Given the description of an element on the screen output the (x, y) to click on. 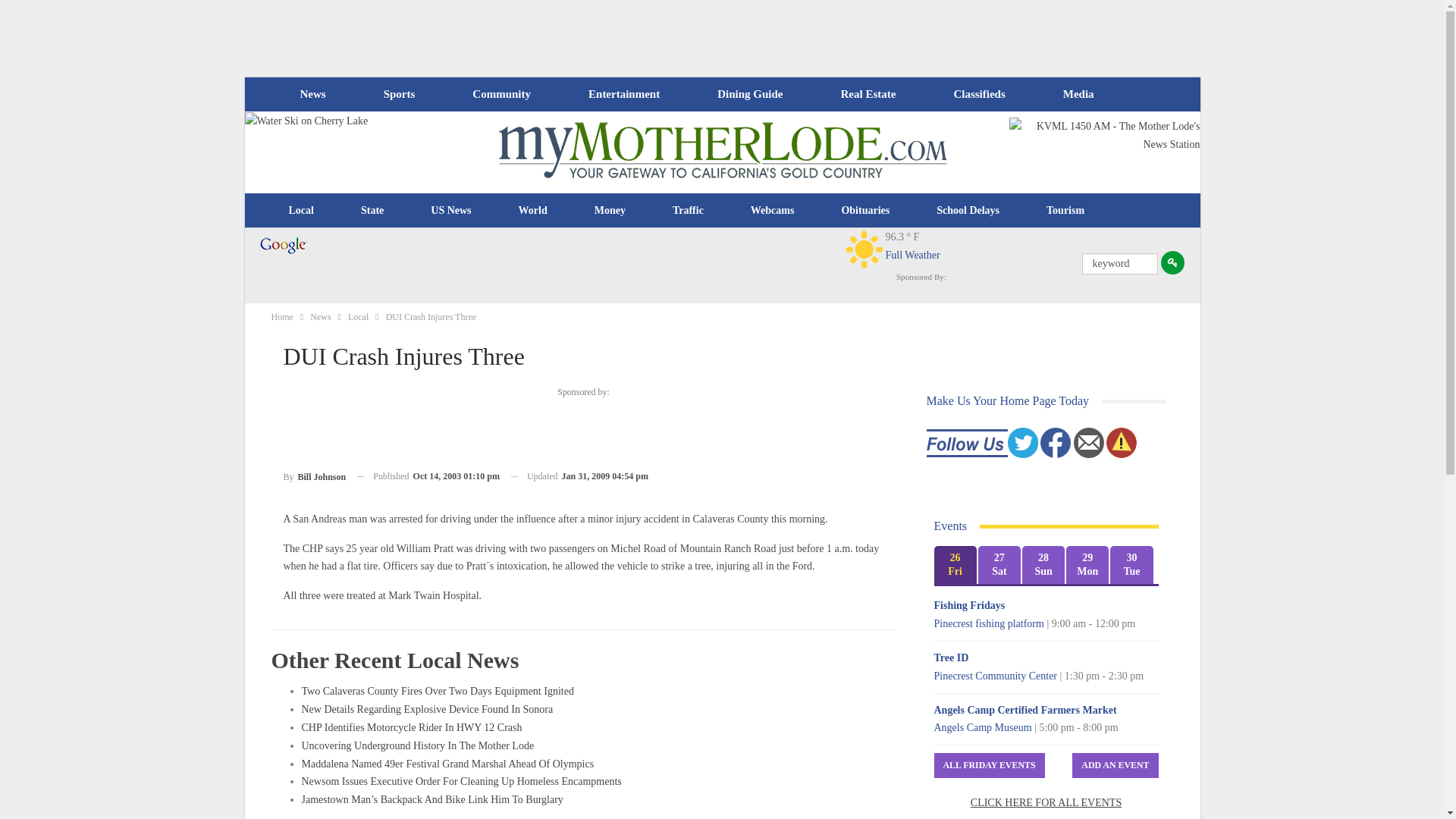
Money (609, 210)
Classifieds (979, 93)
Browse Author Articles (314, 476)
Add An Event (1114, 765)
Local (300, 210)
Dining Guide (749, 93)
School Delays (967, 210)
US News (451, 210)
Clear (864, 249)
Traffic (687, 210)
Media (1078, 93)
News (312, 93)
State (372, 210)
